Given the description of an element on the screen output the (x, y) to click on. 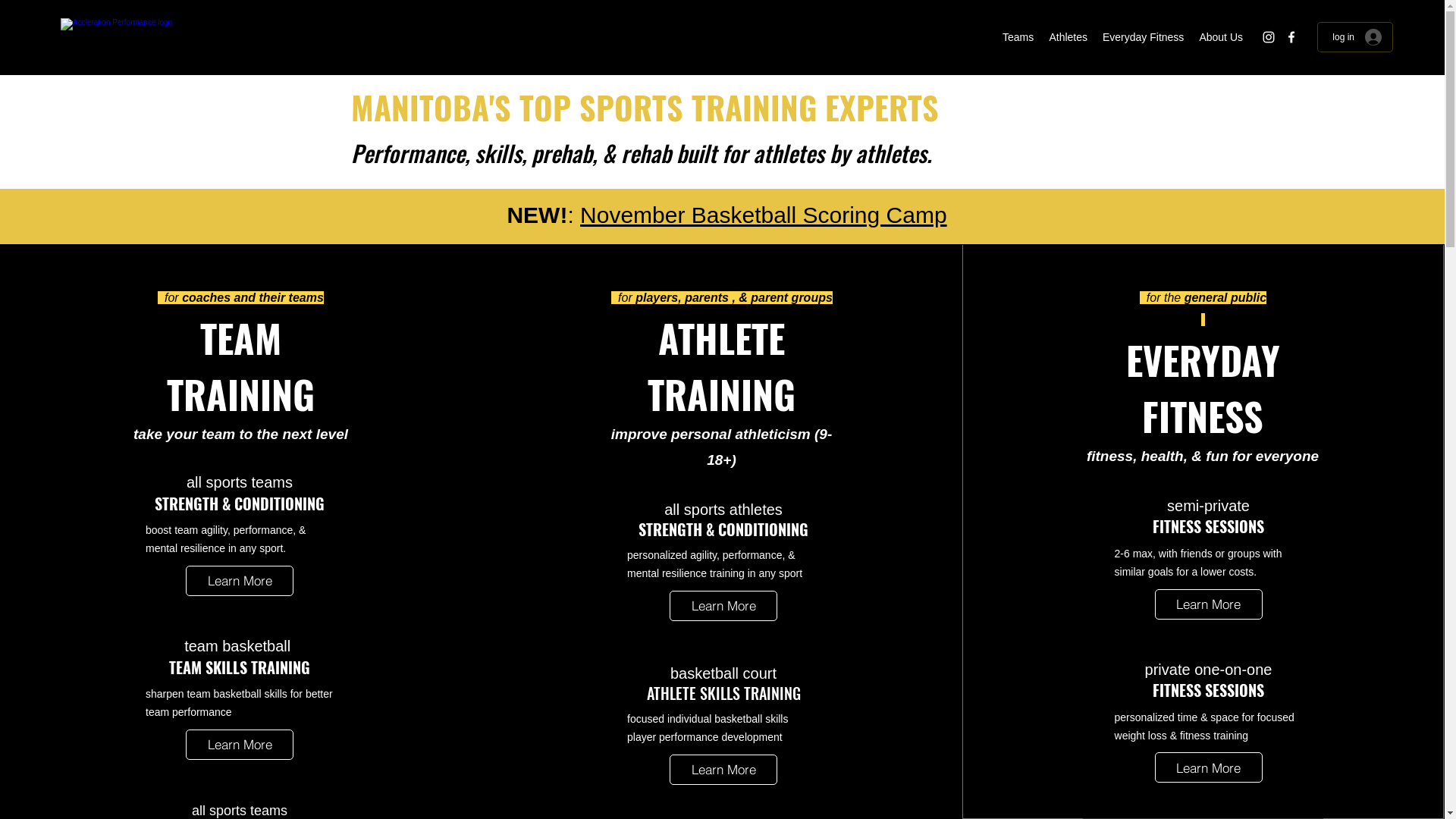
Learn More Element type: text (1208, 767)
Athletes Element type: text (1068, 36)
Everyday Fitness Element type: text (1143, 36)
Learn More Element type: text (1208, 604)
About Us Element type: text (1220, 36)
Learn More Element type: text (723, 605)
Learn More Element type: text (723, 769)
Teams Element type: text (1017, 36)
Acceleration Performance Element type: hover (176, 38)
November Basketball Scoring Camp Element type: text (763, 214)
Learn More Element type: text (239, 744)
Learn More Element type: text (239, 580)
log in Element type: text (1356, 37)
